Given the description of an element on the screen output the (x, y) to click on. 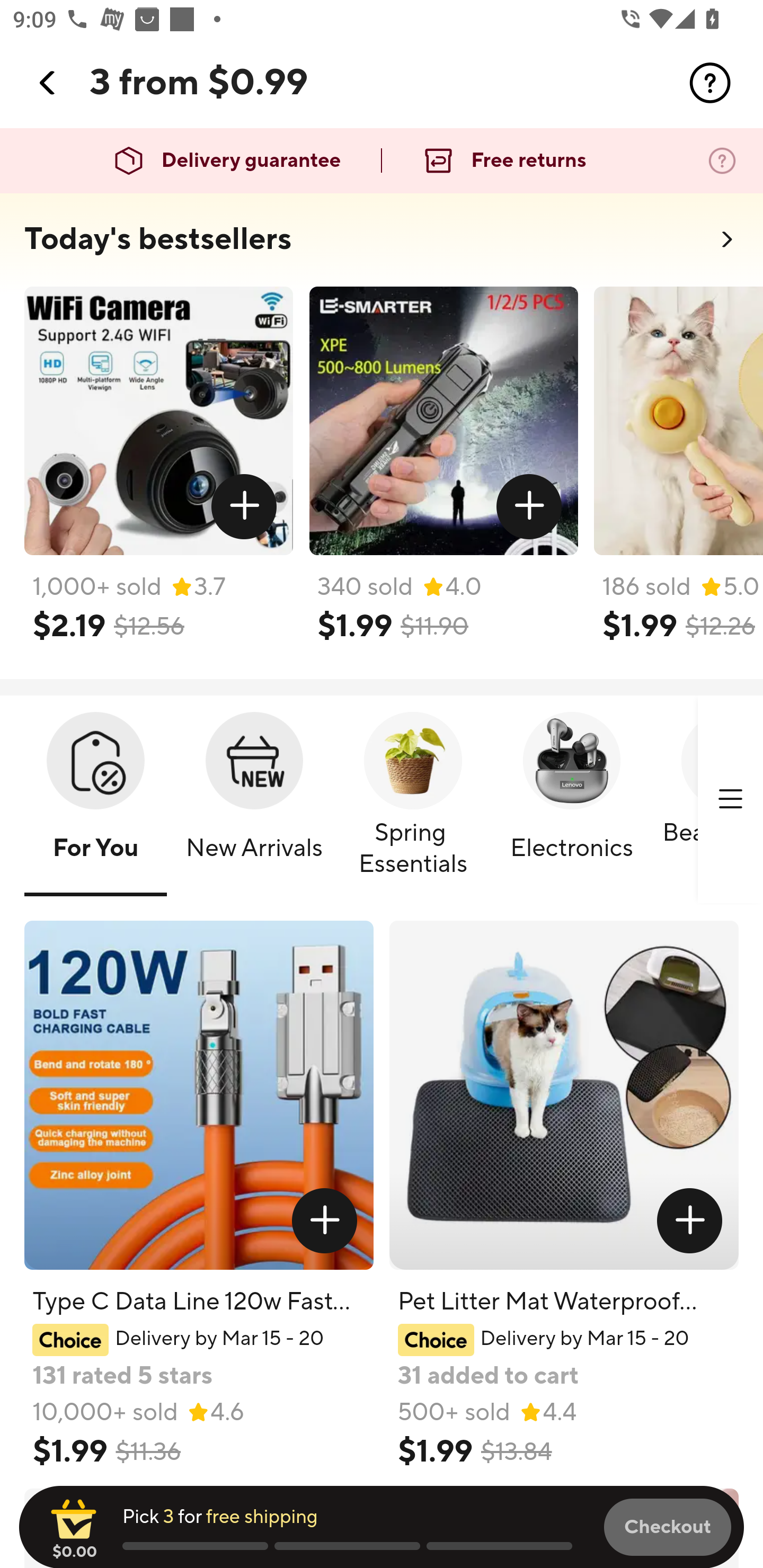
 (710, 82)
 (48, 82)
Today's bestsellers  Today's bestsellers  (381, 244)
Today's bestsellers (157, 239)
 (244, 506)
 (529, 506)
 (730, 799)
144x144.png_ For You (95, 800)
144x144.png_ New Arrivals (254, 800)
200x200.png_ Spring Essentials (412, 800)
300x300.png_ Electronics (571, 800)
 (323, 1220)
 (689, 1220)
